Given the description of an element on the screen output the (x, y) to click on. 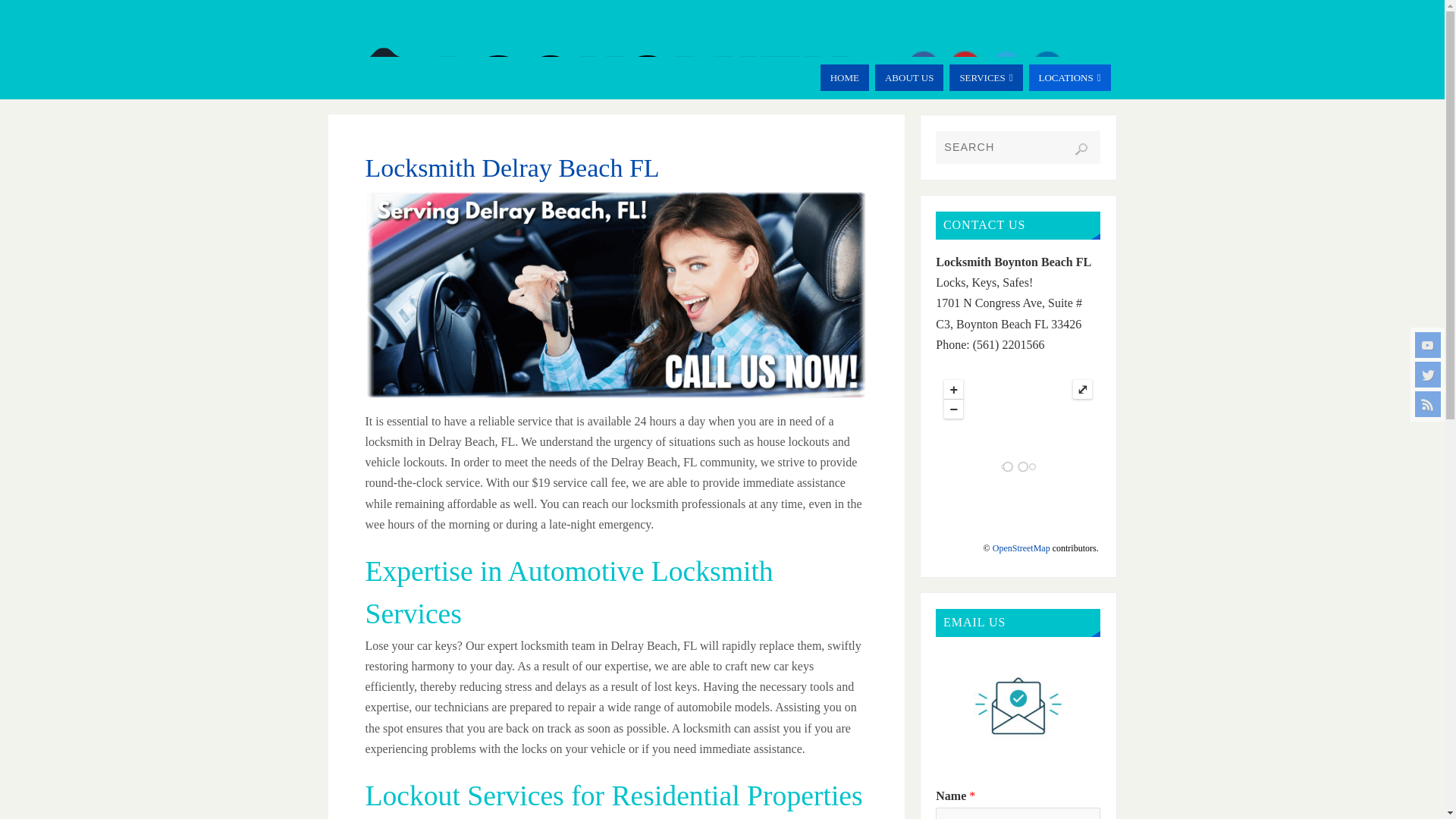
YouTube (1428, 344)
ABOUT US (909, 77)
HOME (845, 77)
Twitter (1428, 374)
Zoom in (952, 389)
OpenStreetMap (1020, 547)
Zoom out (952, 408)
Locksmith Boynton Beach FL (610, 103)
LOCATIONS (1069, 77)
Toggle full-screen (1082, 389)
RSS (1428, 403)
SERVICES (985, 77)
